Given the description of an element on the screen output the (x, y) to click on. 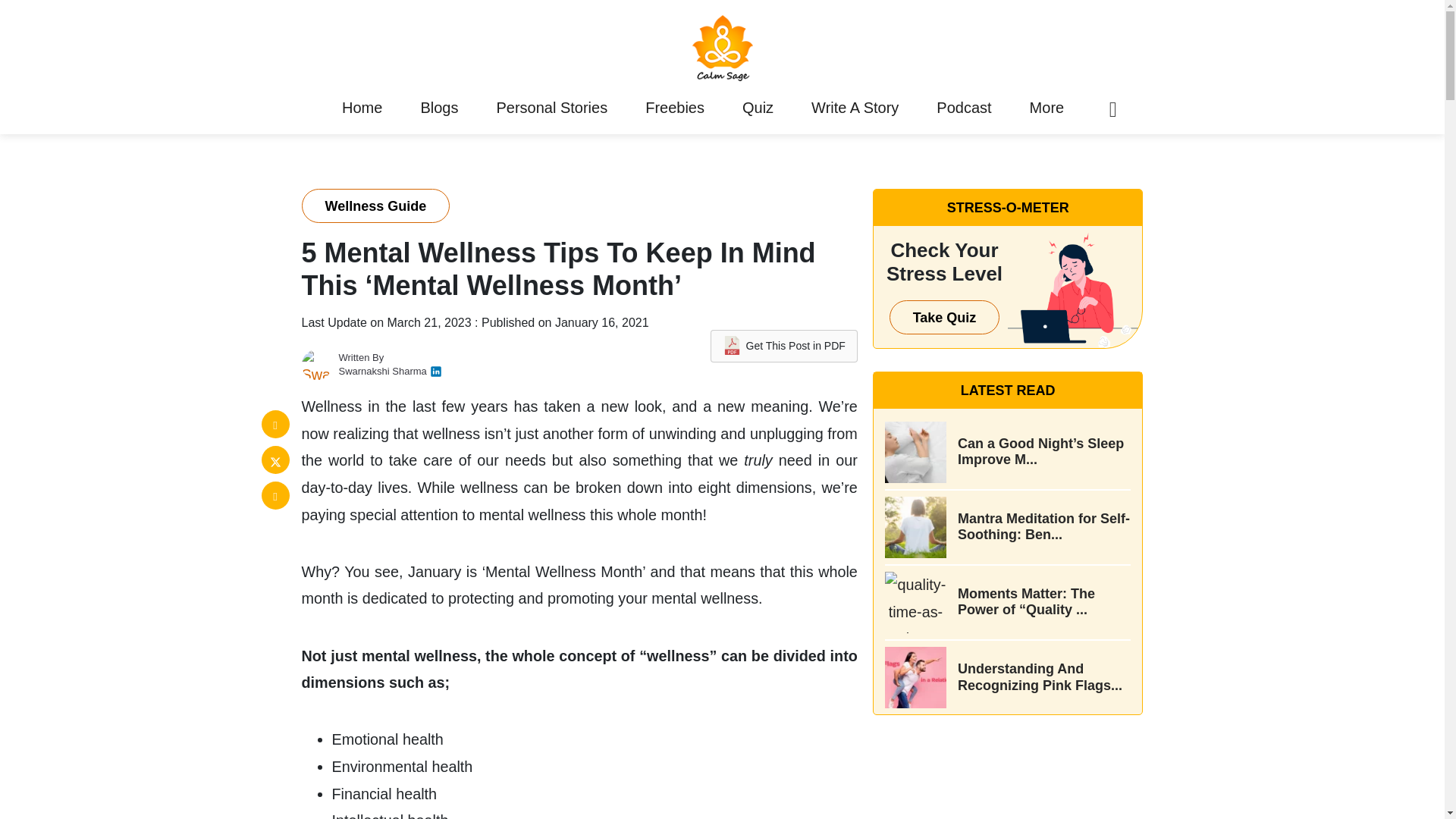
Podcast (963, 107)
Freebies (674, 107)
SEARCH (1075, 408)
Home (361, 107)
More (1046, 107)
Swarnakshi Sharma (381, 370)
Get This Post in PDF (783, 346)
Blogs (438, 107)
Personal Stories (551, 107)
Write A Story (854, 107)
Written By (360, 357)
Quiz (757, 107)
Wellness Guide (375, 205)
